Given the description of an element on the screen output the (x, y) to click on. 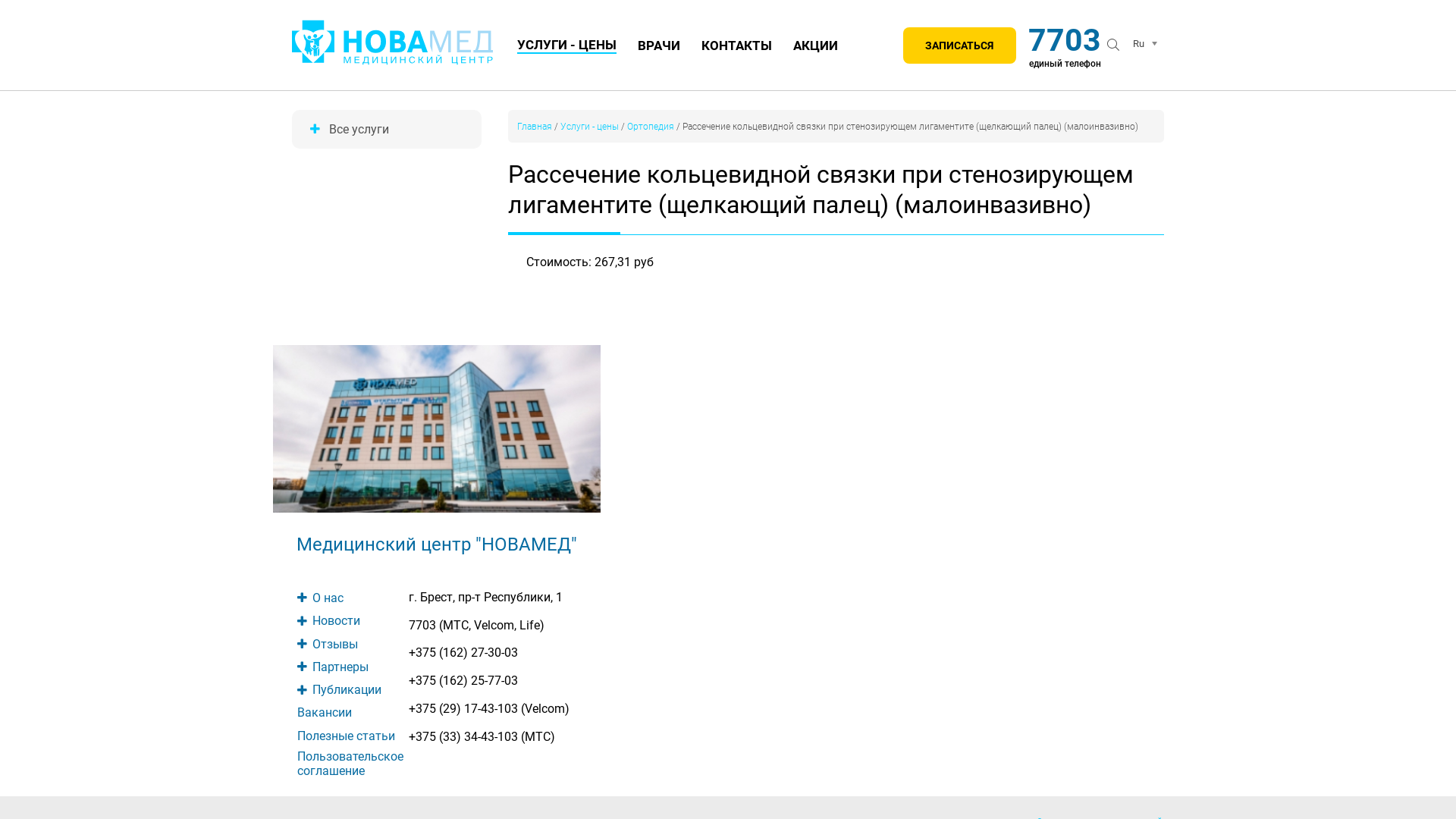
Ru Element type: text (1142, 45)
